Given the description of an element on the screen output the (x, y) to click on. 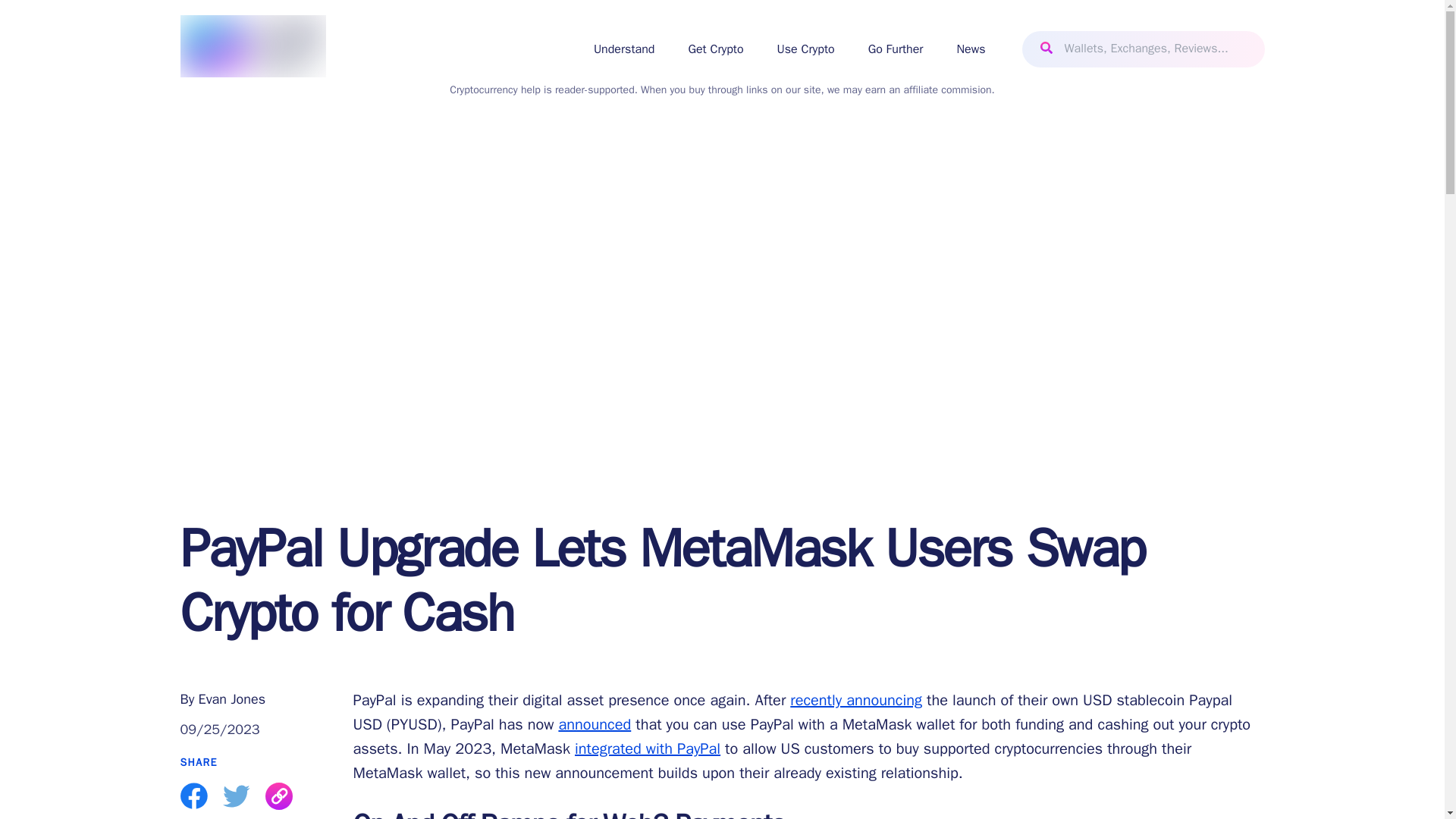
Get Crypto (714, 49)
recently announcing (855, 700)
Use Crypto (805, 49)
Understand (624, 49)
integrated with PayPal (647, 748)
News (970, 49)
announced (593, 723)
Go Further (895, 49)
